Given the description of an element on the screen output the (x, y) to click on. 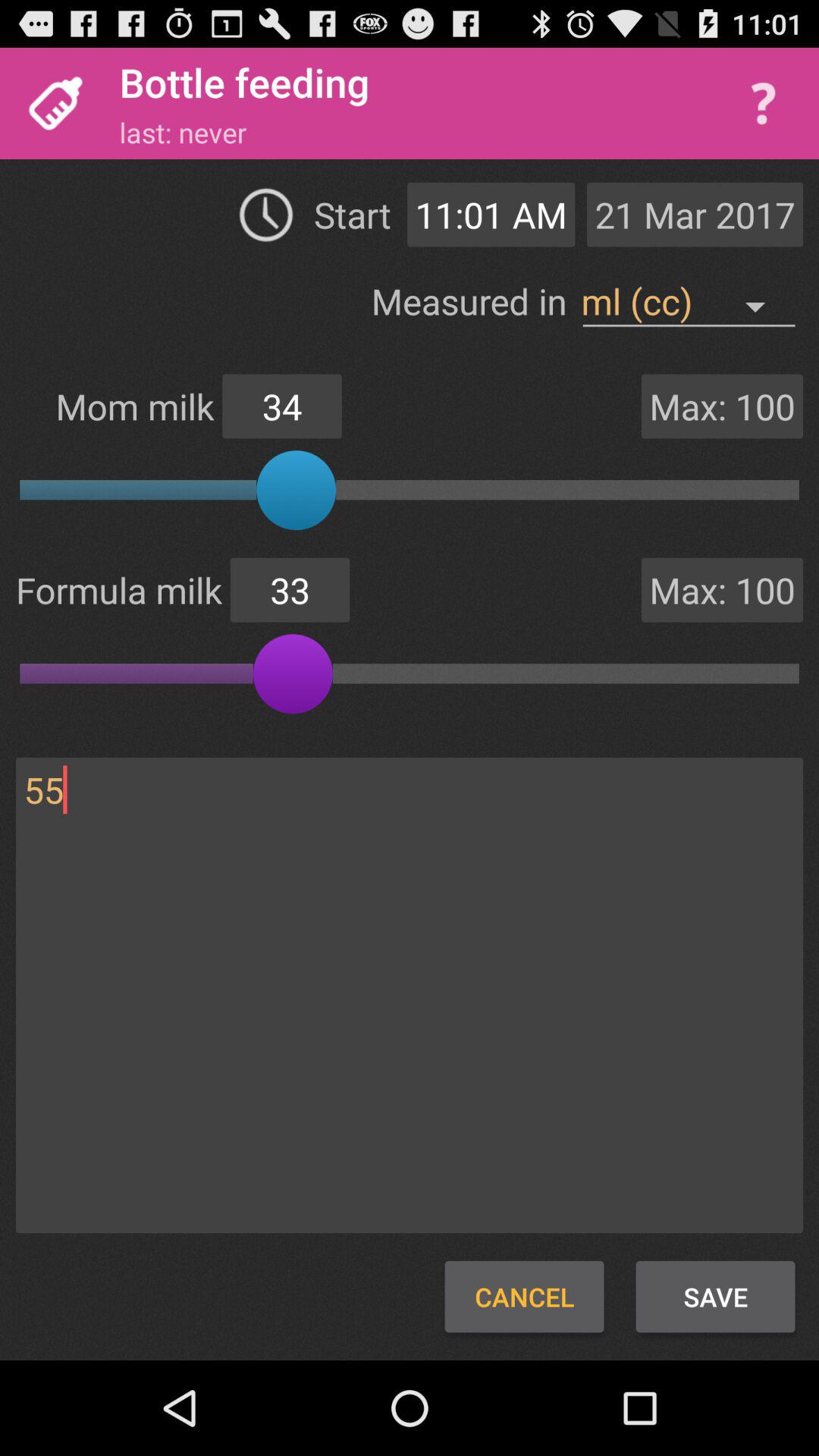
go to help (763, 103)
